Given the description of an element on the screen output the (x, y) to click on. 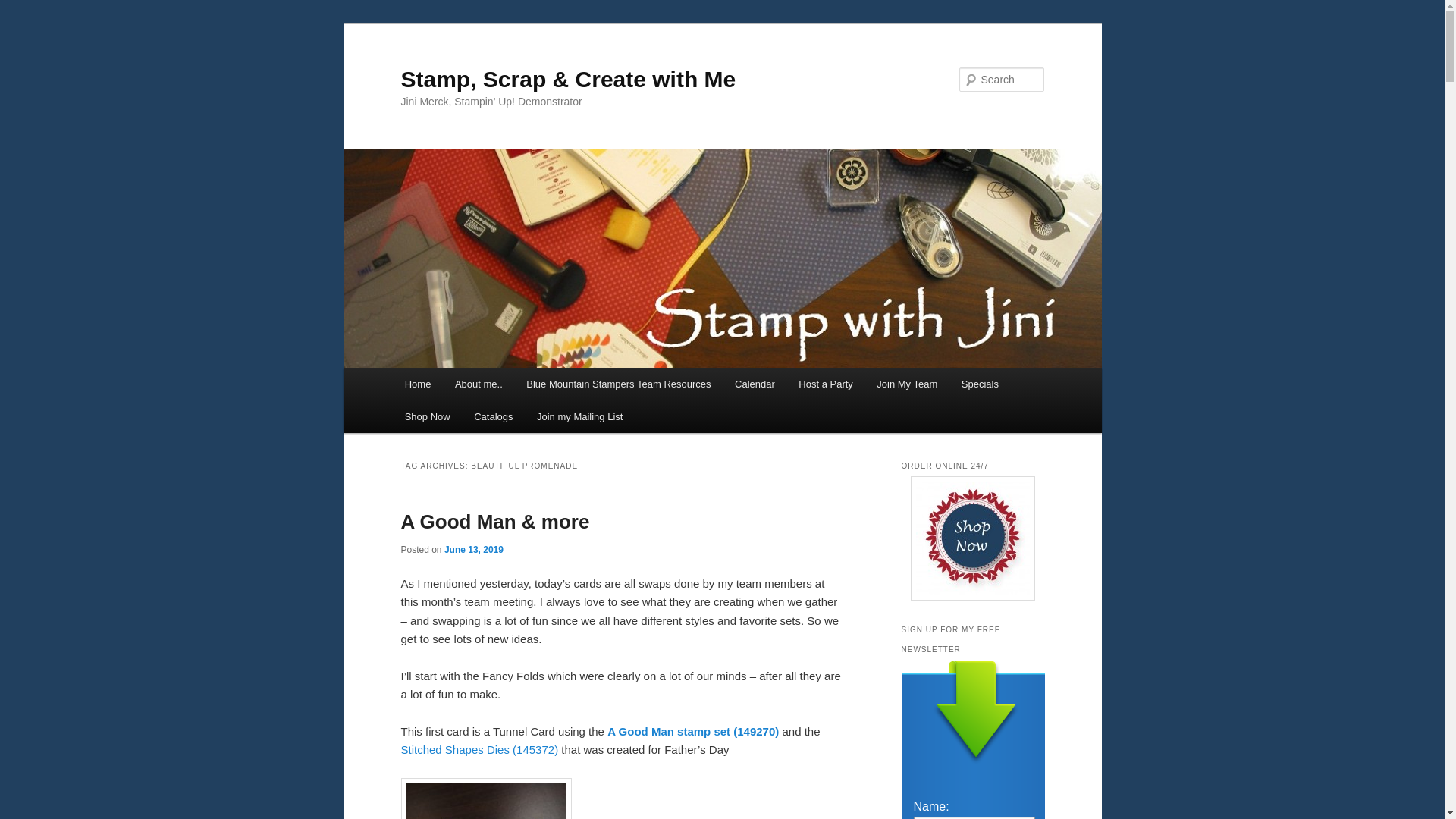
Shop Now (427, 416)
Blue Mountain Stampers Team Resources (617, 383)
Specials (979, 383)
Home (417, 383)
Calendar (754, 383)
Join my Mailing List (579, 416)
Join My Team (906, 383)
Catalogs (492, 416)
About me.. (477, 383)
June 13, 2019 (473, 549)
Host a Party (825, 383)
7:51 am (473, 549)
Search (24, 8)
